Given the description of an element on the screen output the (x, y) to click on. 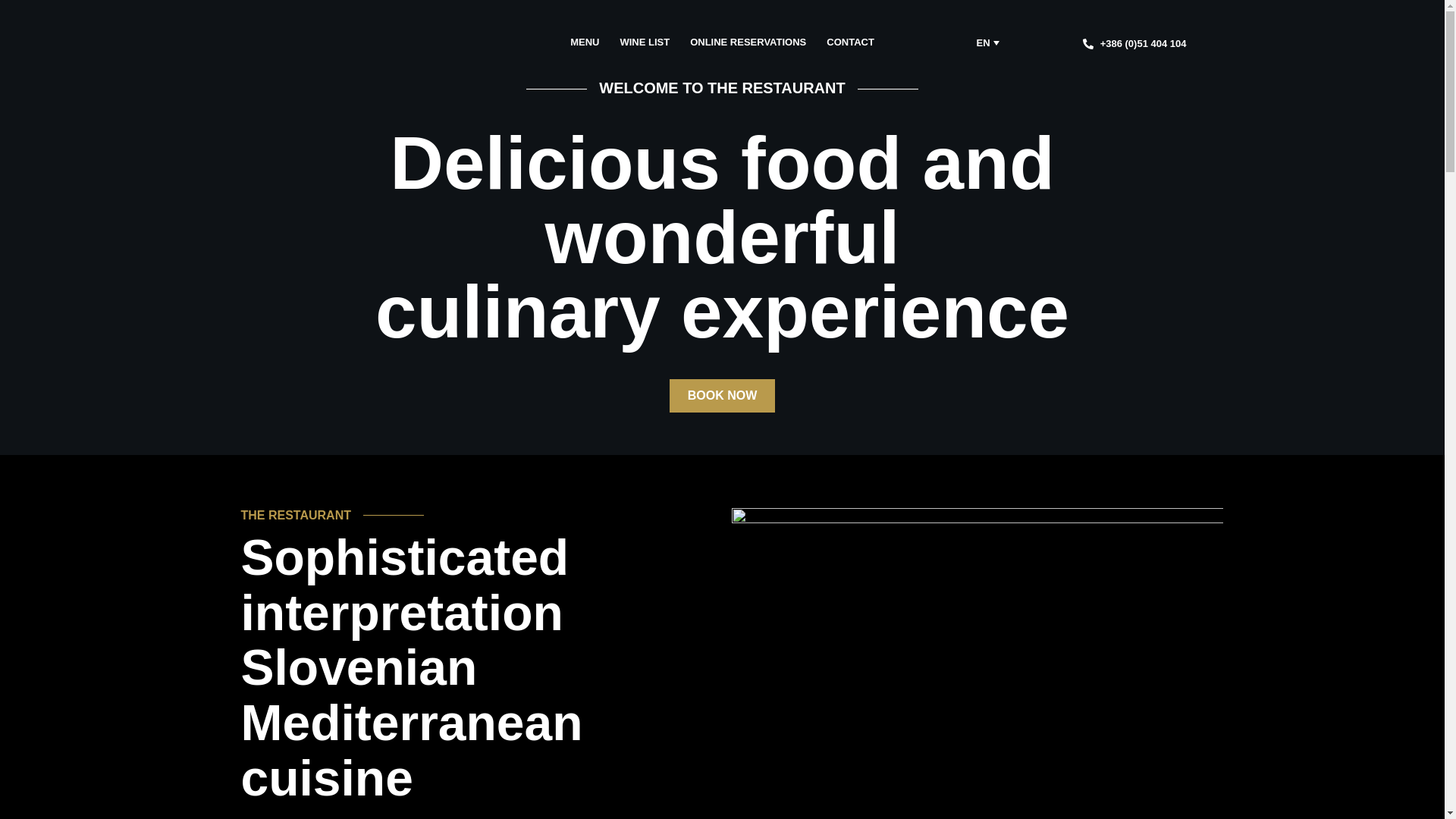
EN (987, 42)
ONLINE RESERVATIONS (748, 42)
CONTACT (851, 42)
MENU (584, 42)
WINE LIST (644, 42)
BOOK NOW (722, 395)
